Given the description of an element on the screen output the (x, y) to click on. 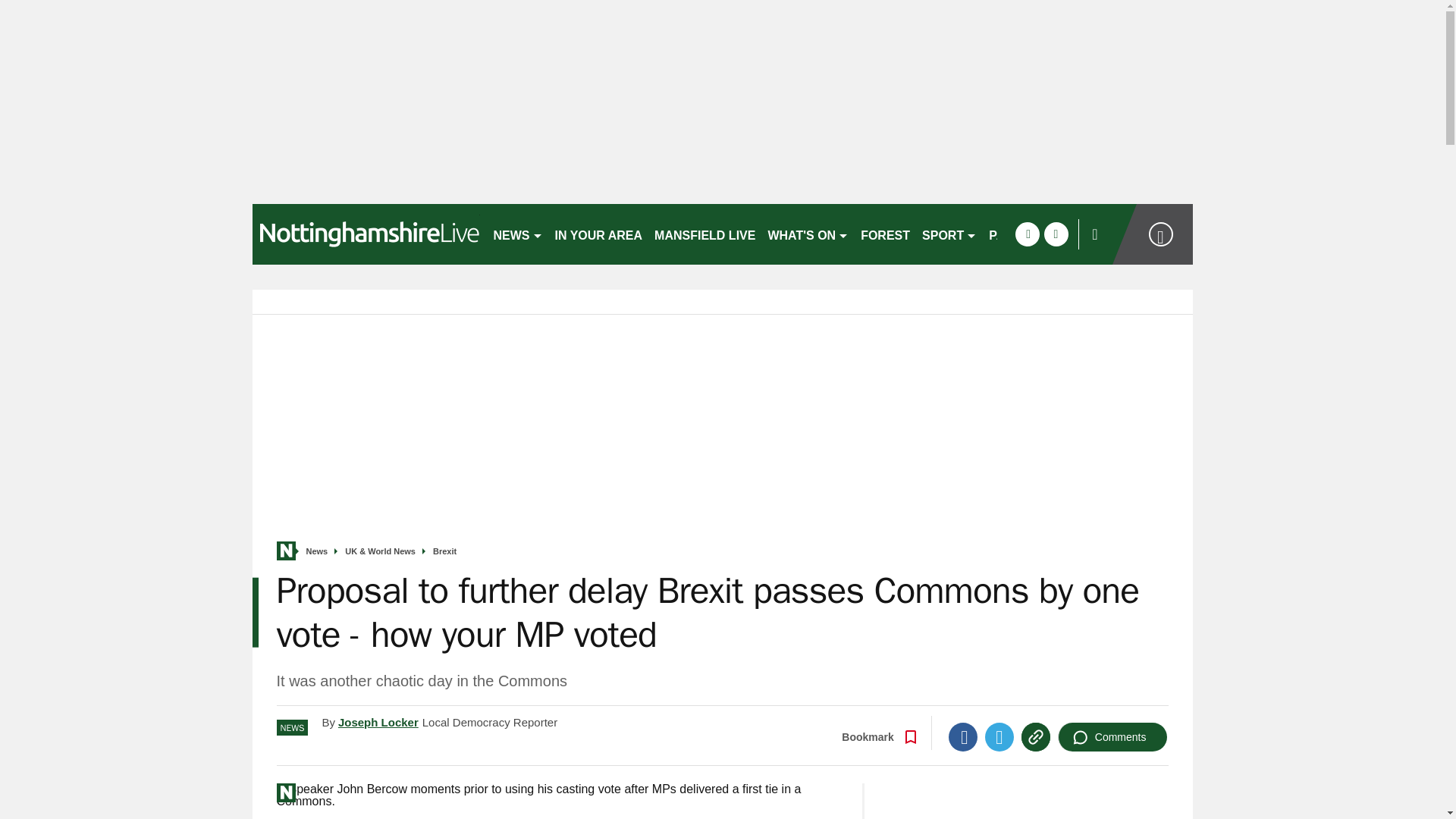
PARTNER STORIES (1045, 233)
FOREST (884, 233)
SPORT (948, 233)
twitter (1055, 233)
Twitter (999, 736)
Comments (1112, 736)
facebook (1026, 233)
MANSFIELD LIVE (704, 233)
NEWS (517, 233)
nottinghampost (365, 233)
